Given the description of an element on the screen output the (x, y) to click on. 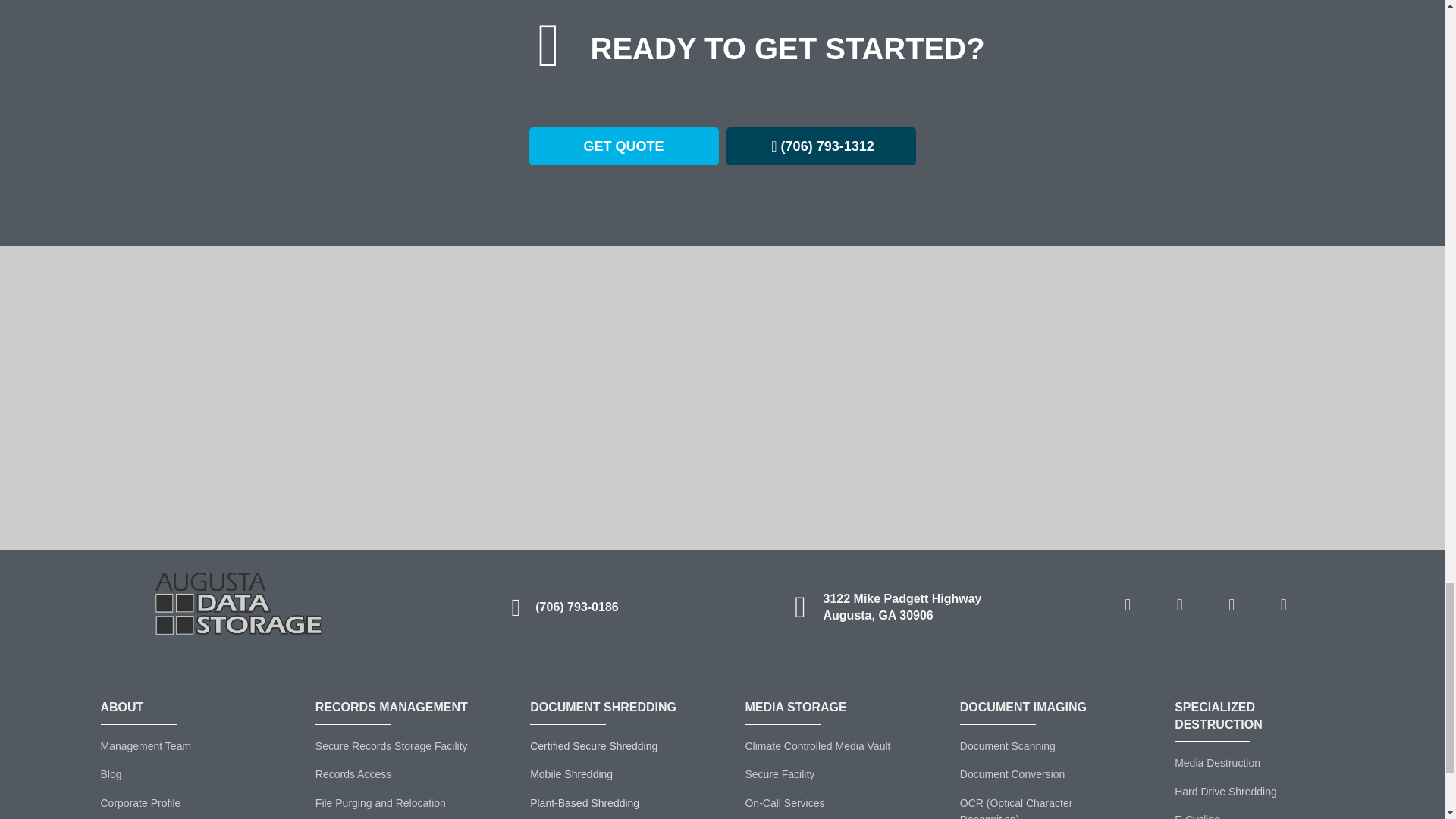
Google Plus (1230, 604)
LinkedIn (1179, 604)
Header Augusta Data (238, 603)
YouTube (1283, 604)
Facebook (1127, 604)
